Given the description of an element on the screen output the (x, y) to click on. 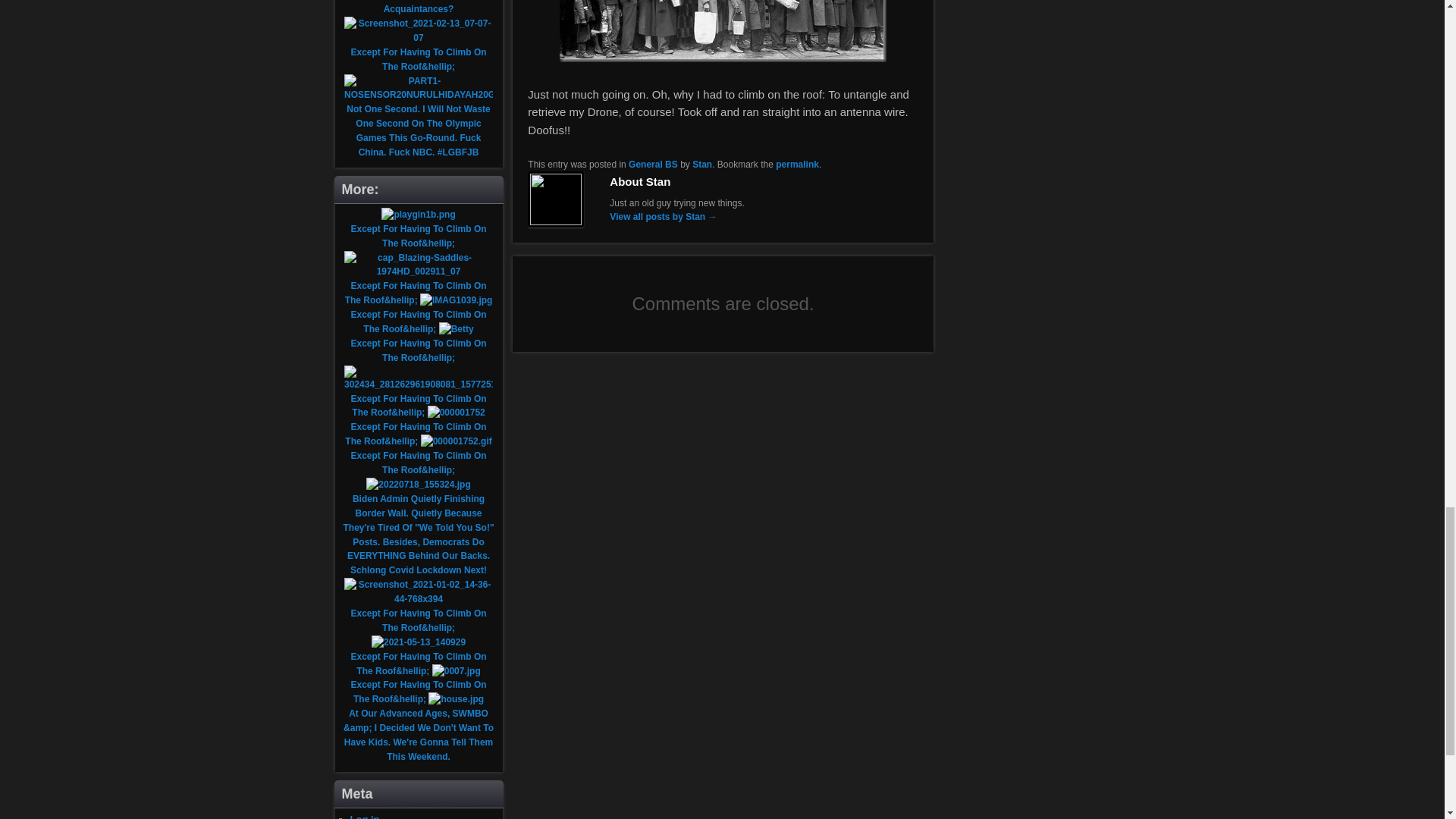
Stan (702, 163)
Used to be! (722, 31)
permalink (797, 163)
General BS (653, 163)
